Given the description of an element on the screen output the (x, y) to click on. 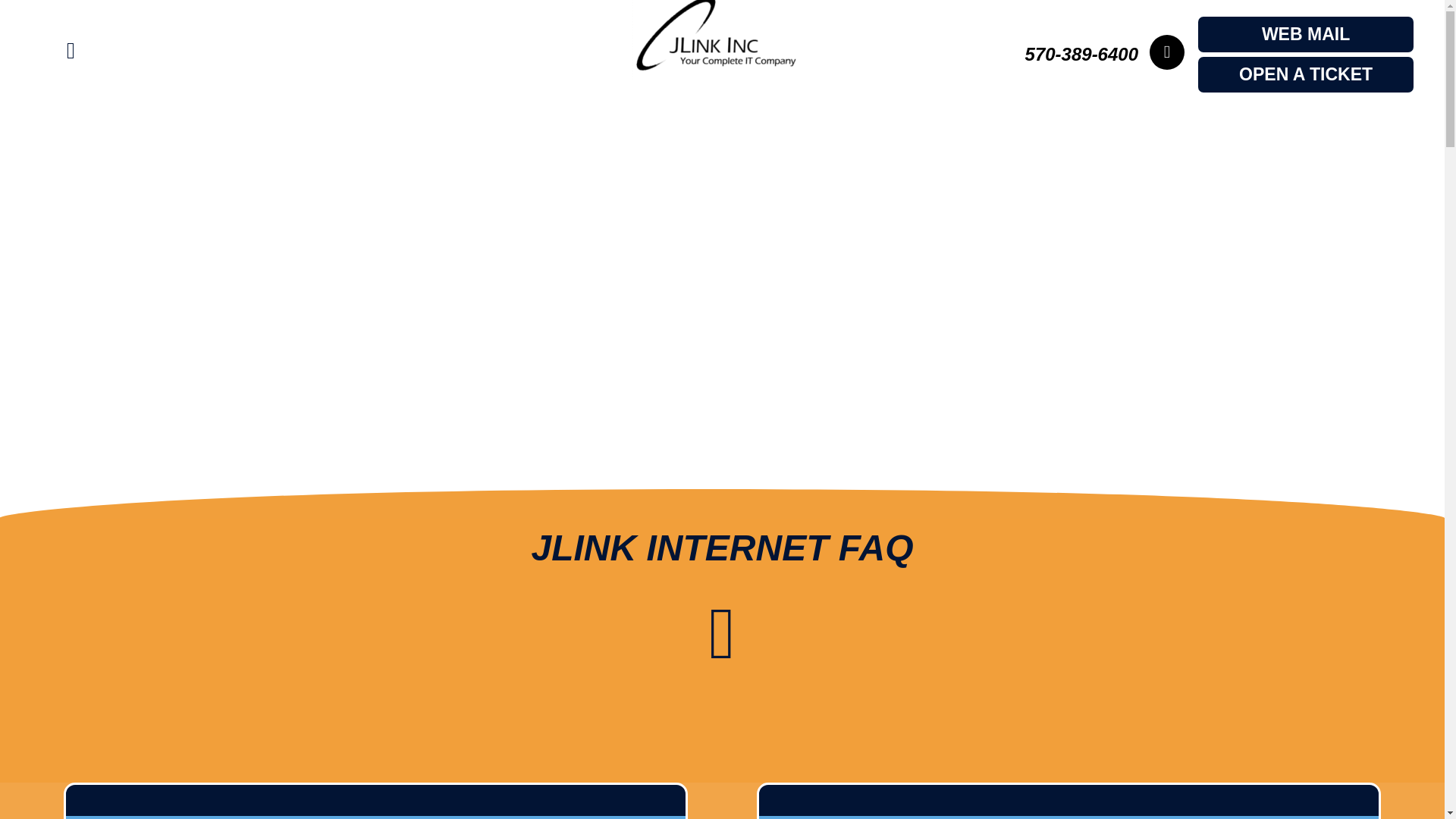
OPEN A TICKET (1305, 74)
570-389-6400 (1081, 54)
WEB MAIL (1305, 34)
